Given the description of an element on the screen output the (x, y) to click on. 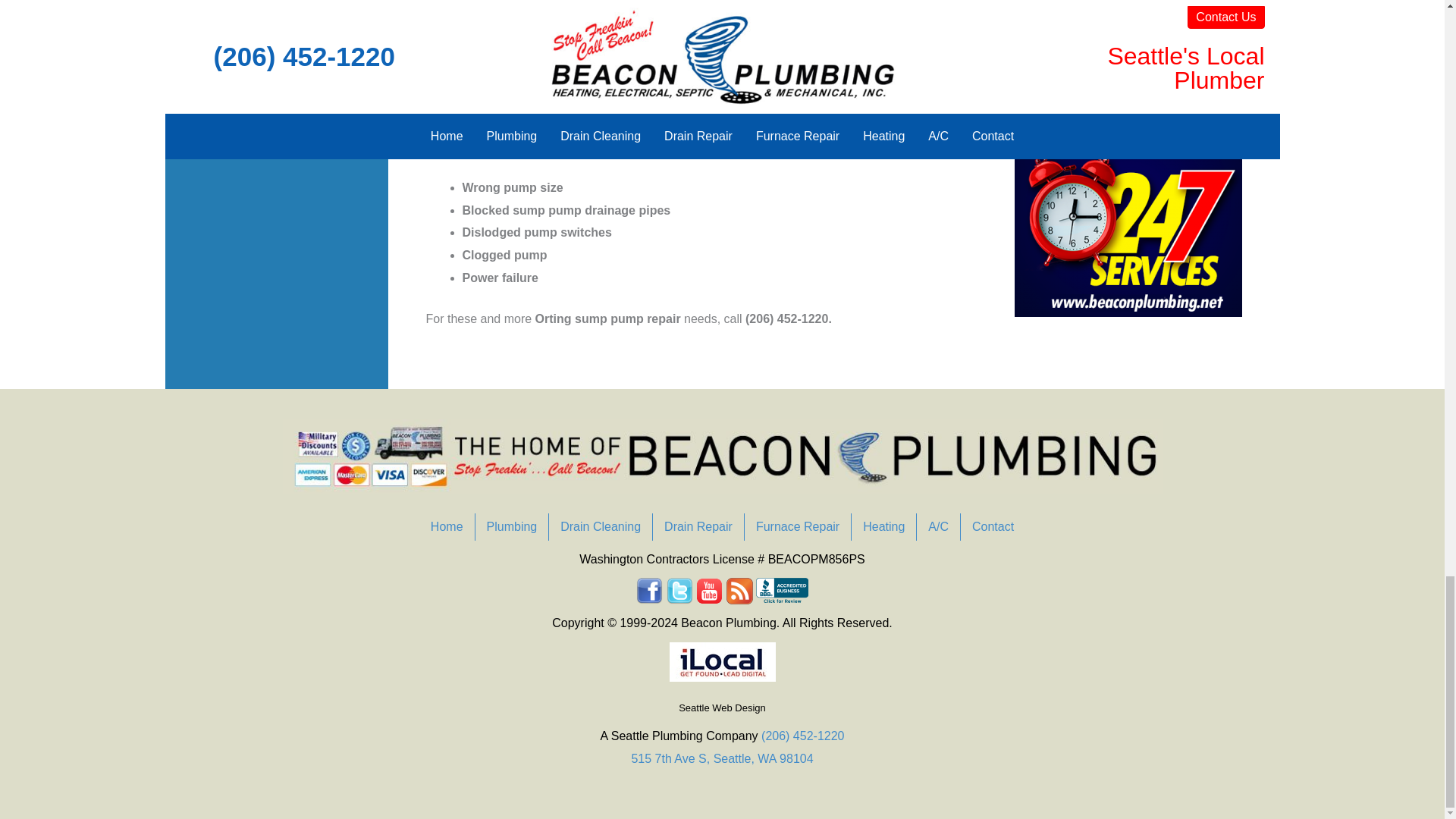
footerbanner (721, 456)
